Given the description of an element on the screen output the (x, y) to click on. 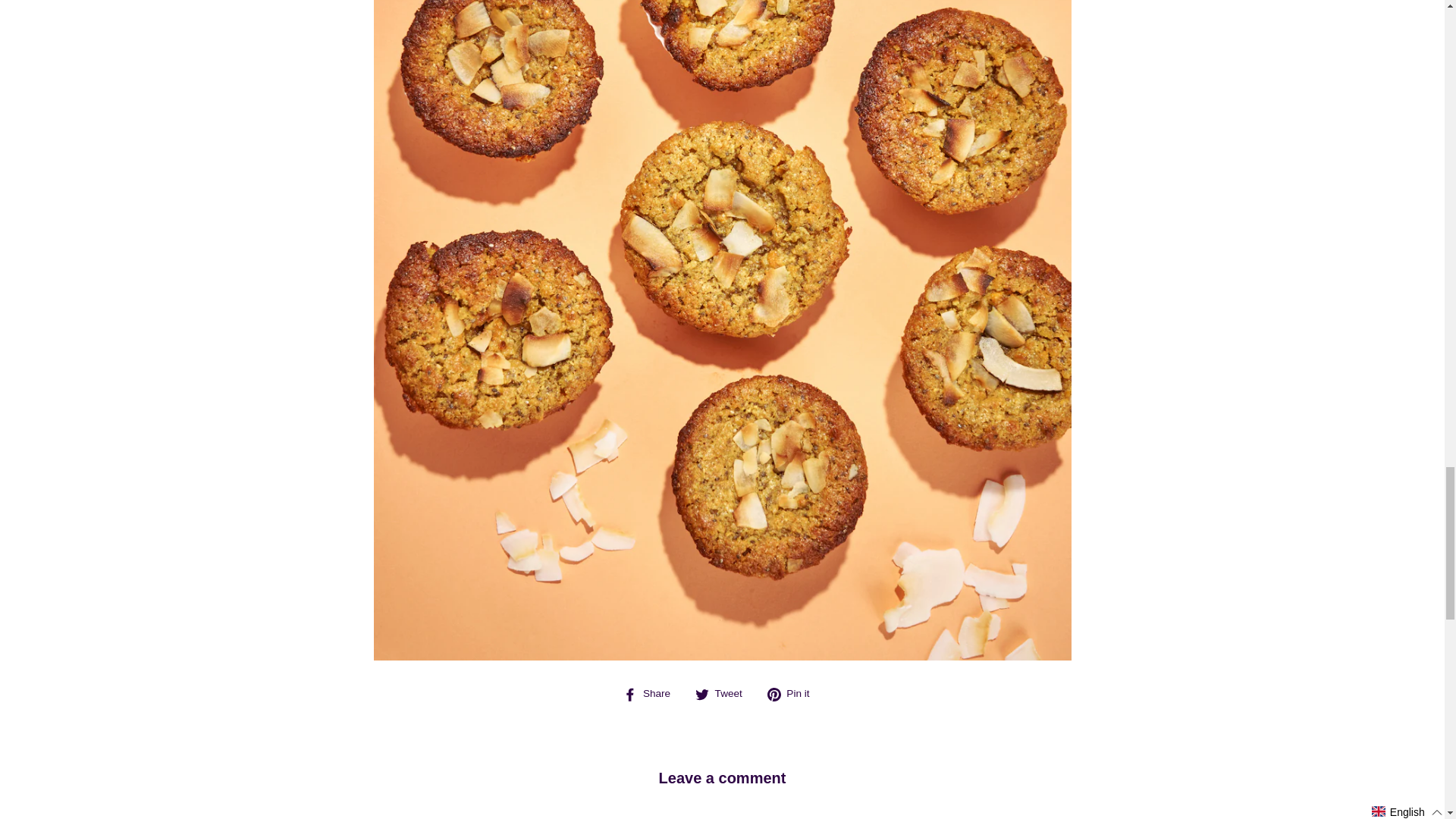
Tweet on Twitter (724, 693)
Pin on Pinterest (794, 693)
Share on Facebook (652, 693)
